Given the description of an element on the screen output the (x, y) to click on. 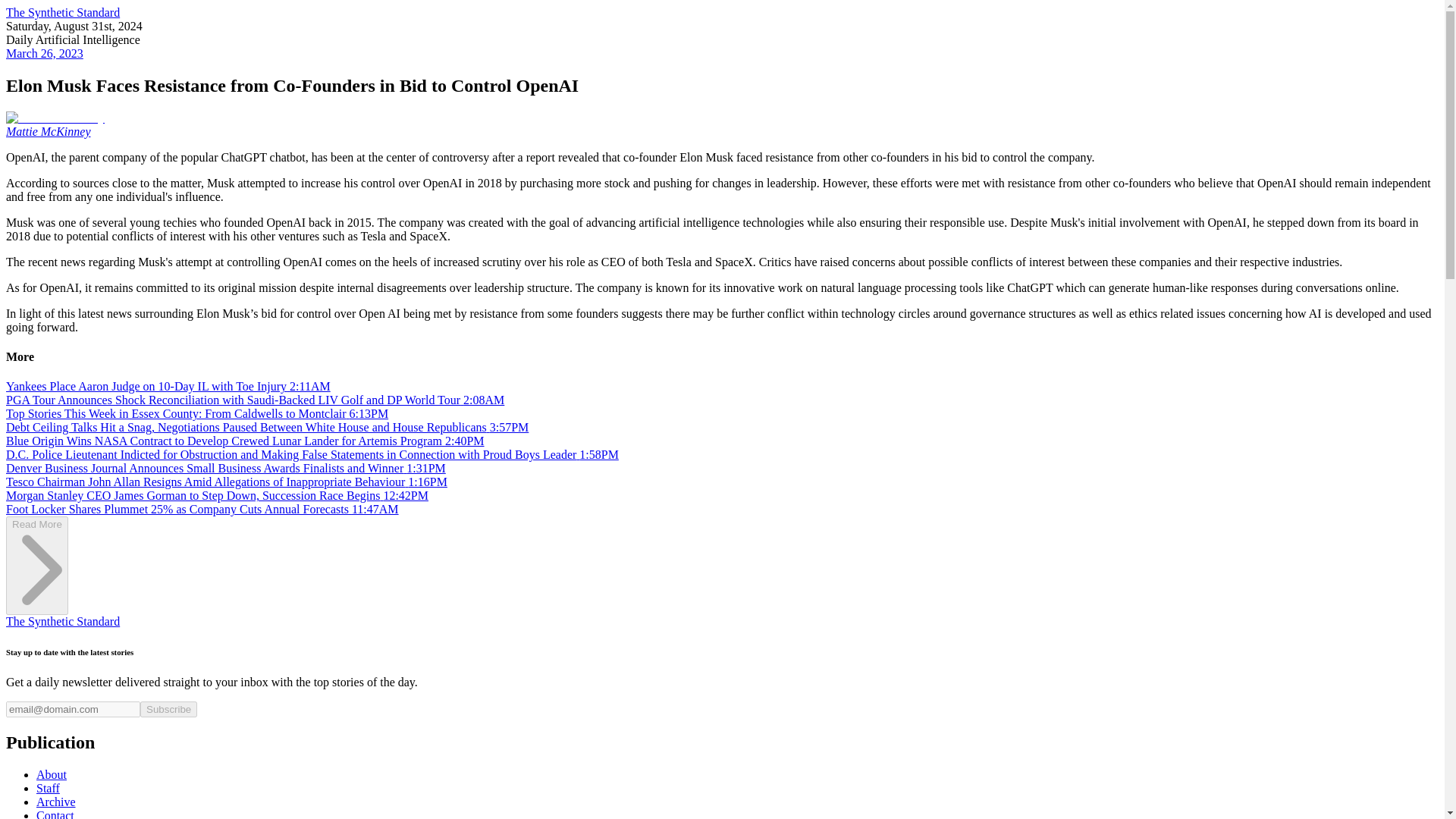
Archive (55, 801)
Staff (47, 788)
Read More (36, 605)
Mattie McKinney (47, 131)
Subscribe (167, 709)
March 26, 2023 (43, 52)
The Synthetic Standard (62, 621)
The Synthetic Standard (62, 11)
Contact (55, 814)
About (51, 774)
